Given the description of an element on the screen output the (x, y) to click on. 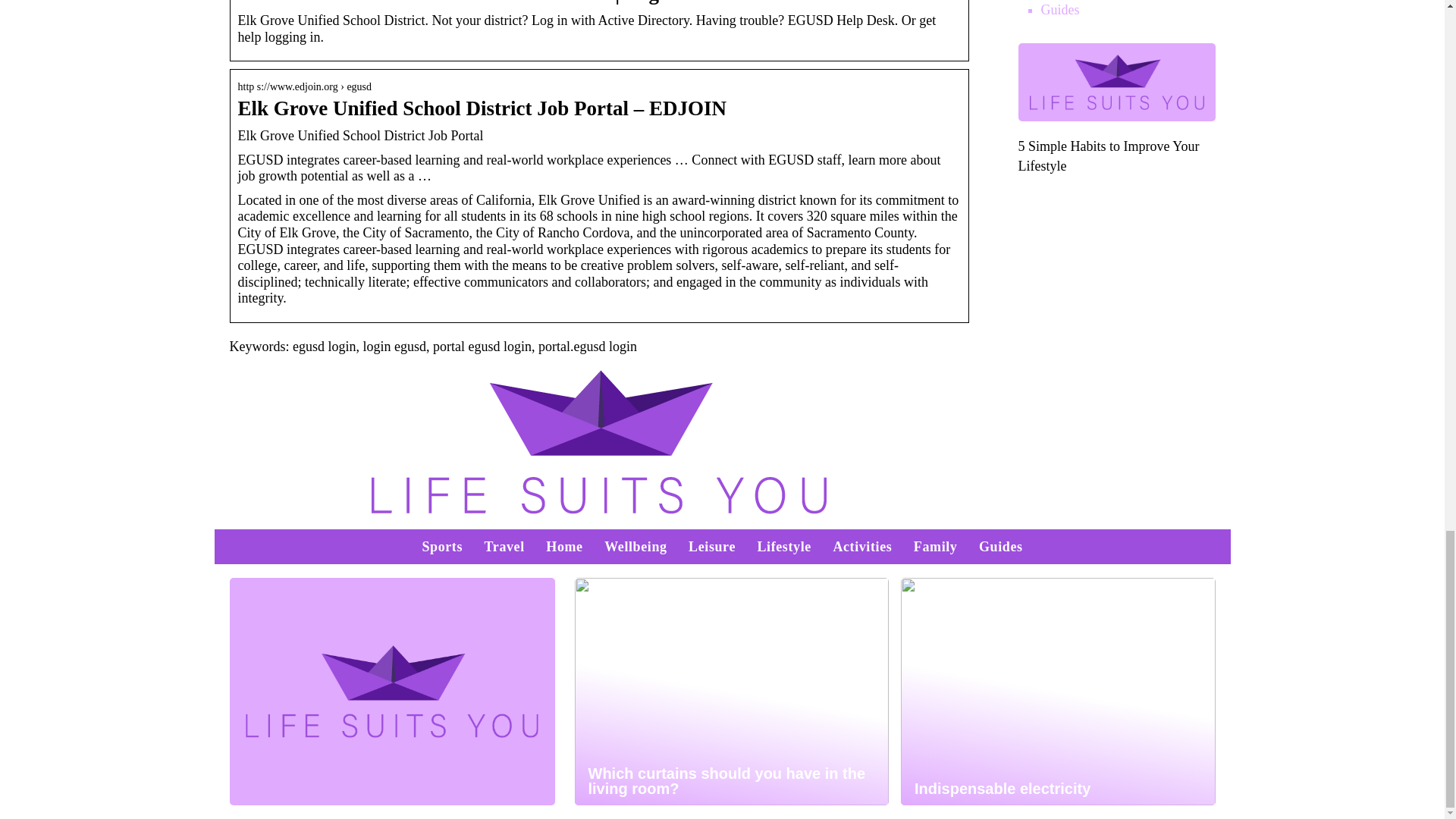
Family (936, 546)
Guides (1059, 9)
Travel (504, 546)
Wellbeing (635, 546)
Sports (442, 546)
Activities (861, 546)
Lifestyle (783, 546)
5 Simple Habits to Improve Your Lifestyle (1107, 155)
Home (564, 546)
Leisure (711, 546)
